Given the description of an element on the screen output the (x, y) to click on. 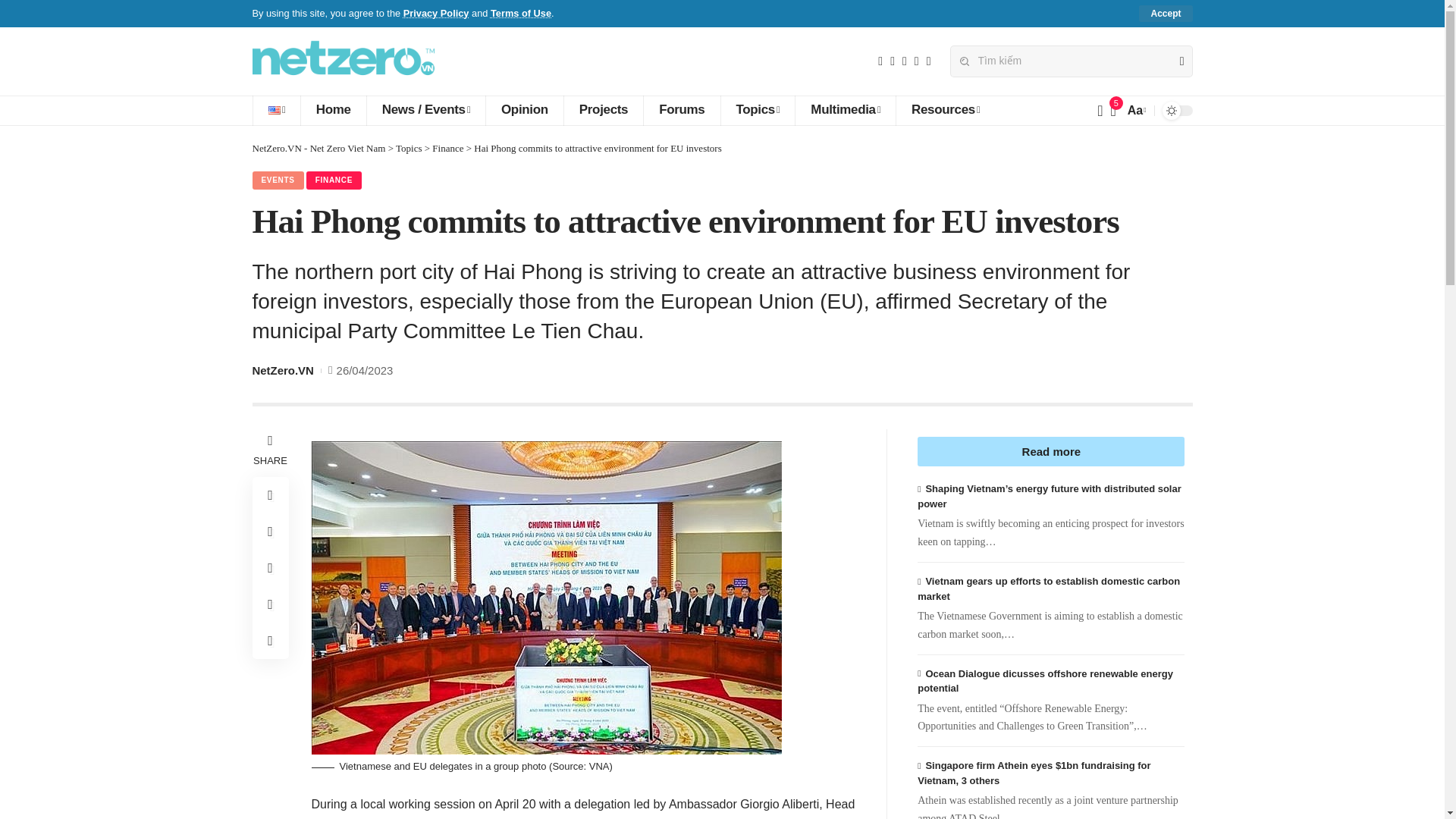
Terms of Use (520, 12)
Multimedia (844, 110)
Privacy Policy (435, 12)
Forums (681, 110)
Opinion (523, 110)
Search (1175, 60)
Home (332, 110)
Go to the Finance Category archives. (447, 147)
NetZero.VN - Net Zero Viet Nam (342, 61)
Accept (1165, 13)
Projects (603, 110)
Topics (757, 110)
Go to the Topics Category archives. (409, 147)
Go to NetZero.VN - Net Zero Viet Nam. (318, 147)
